Given the description of an element on the screen output the (x, y) to click on. 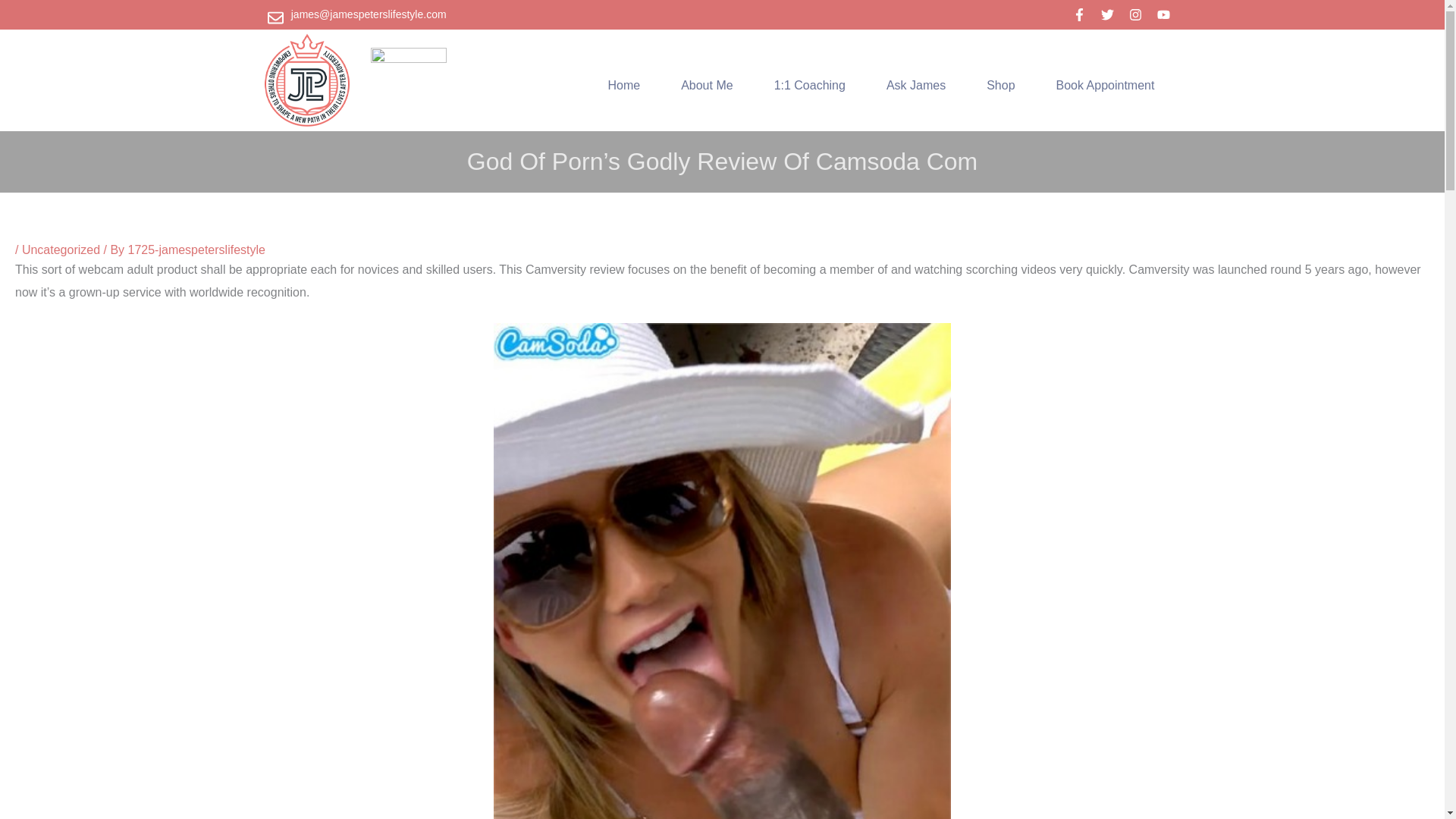
Book Appointment (1104, 85)
Uncategorized (60, 249)
Shop (1000, 85)
1725-jamespeterslifestyle (196, 249)
Home (623, 85)
Ask James (916, 85)
1:1 Coaching (810, 85)
About Me (706, 85)
View all posts by 1725-jamespeterslifestyle (196, 249)
